Given the description of an element on the screen output the (x, y) to click on. 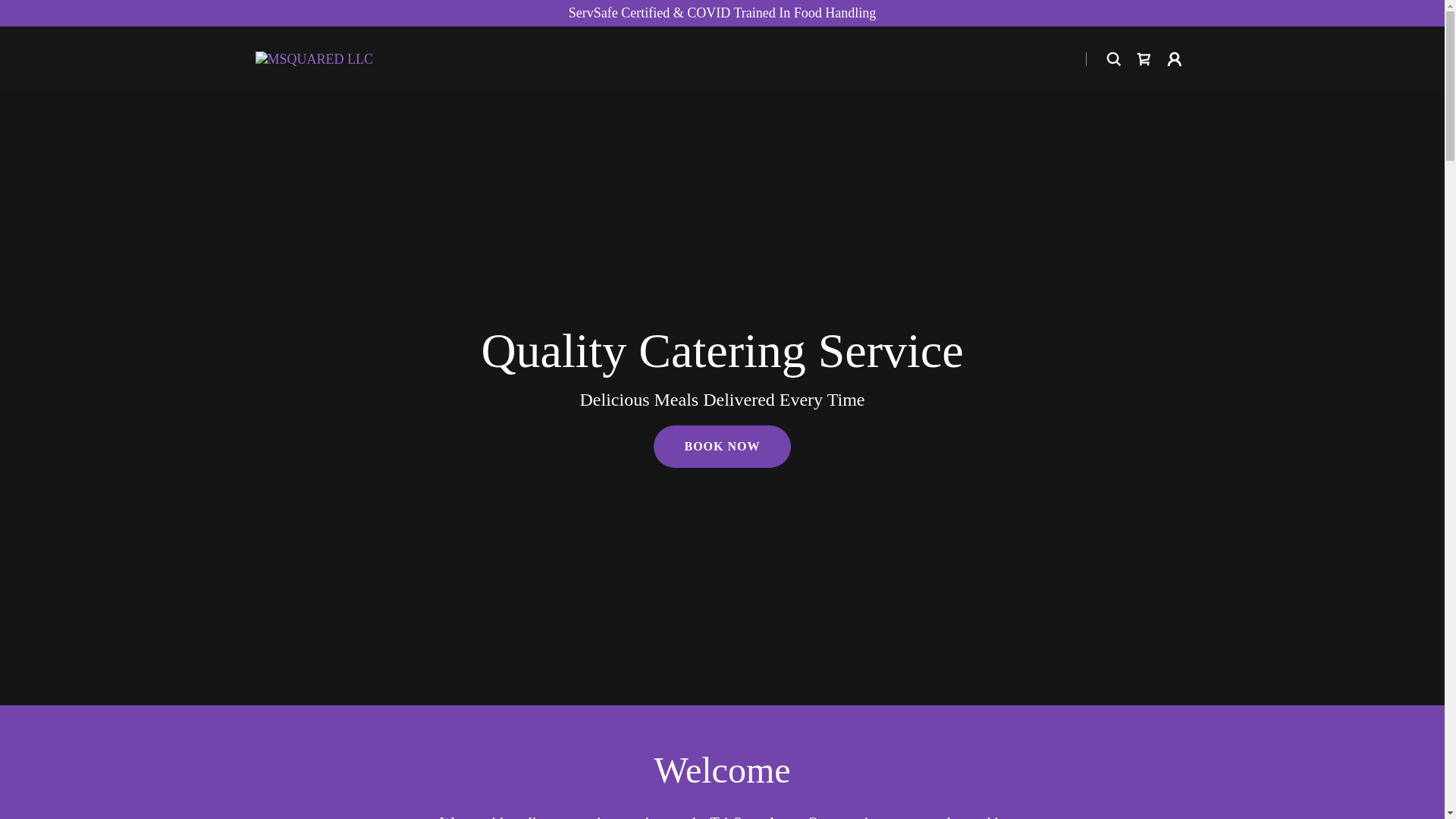
BOOK NOW Element type: text (721, 446)
MSQUARED LLC Element type: hover (313, 57)
